Given the description of an element on the screen output the (x, y) to click on. 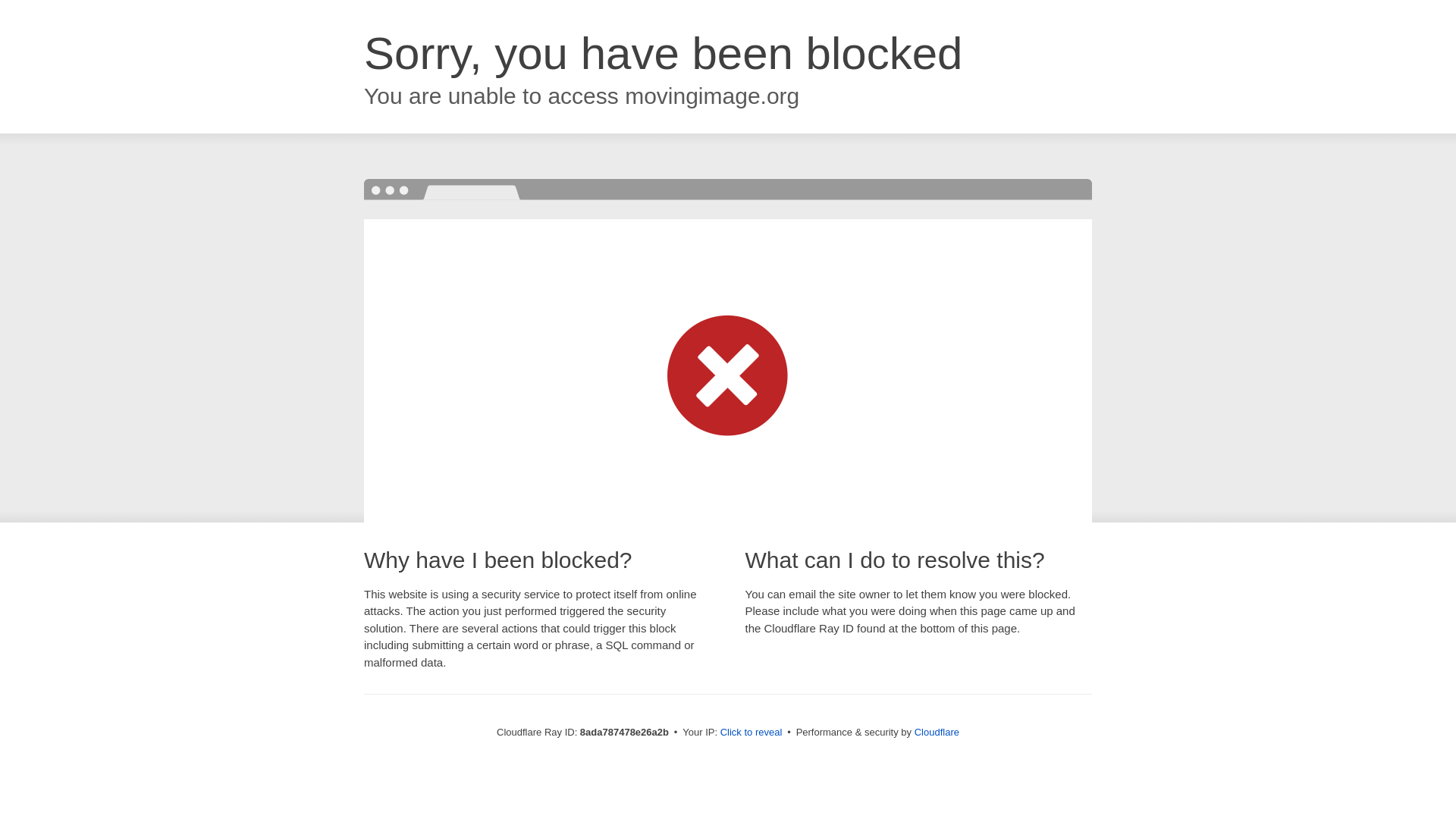
Cloudflare (936, 731)
Click to reveal (751, 732)
